Given the description of an element on the screen output the (x, y) to click on. 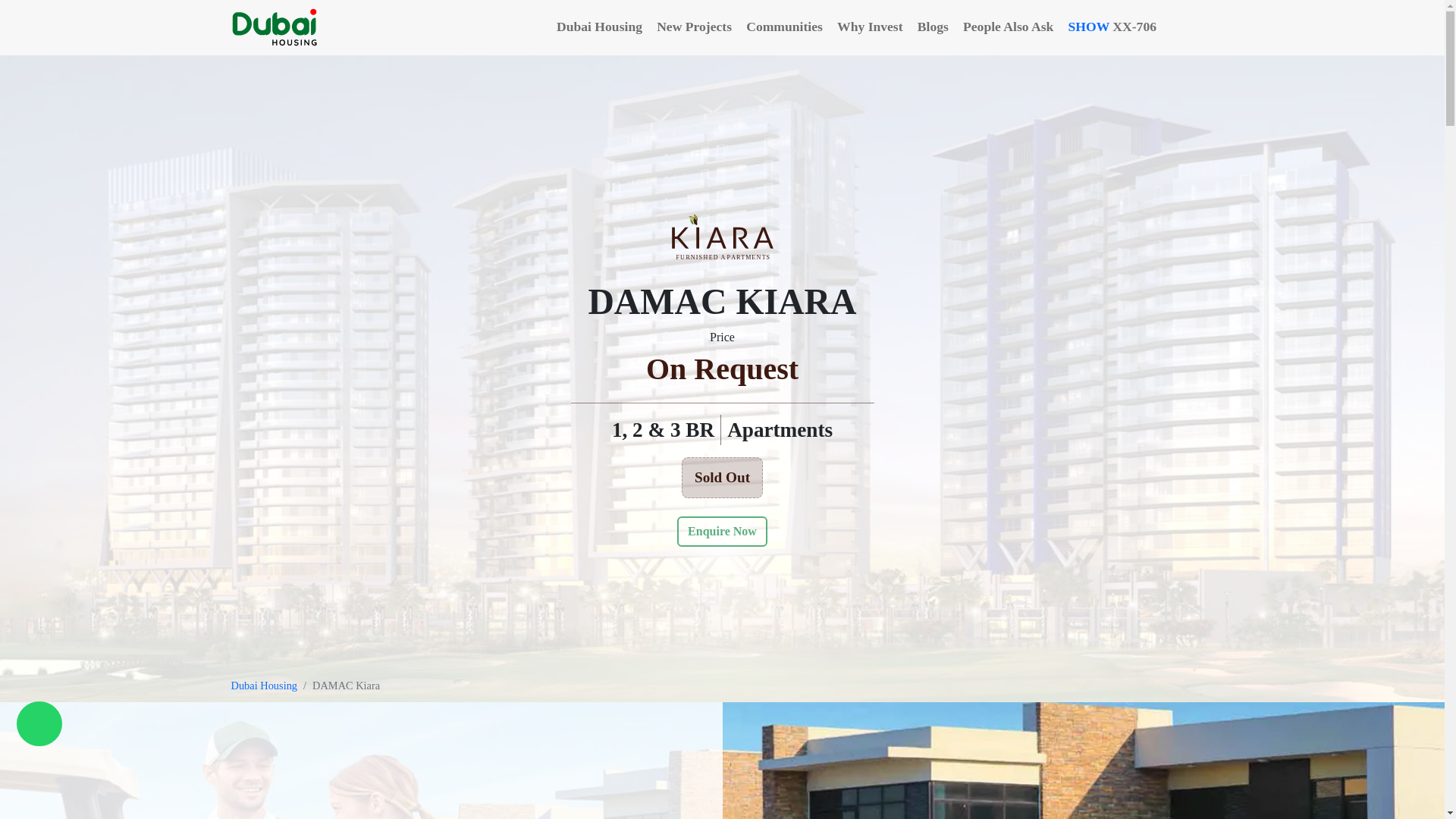
SHOW XX-706 (1136, 27)
Dubai Housing (263, 685)
DAMAC Kiara Logo (721, 236)
People Also Ask (1008, 27)
Enquire Now (722, 531)
Communities (785, 27)
Dubai Housing (600, 27)
Dubai Housing (276, 26)
New Projects (694, 27)
Why Invest (871, 27)
